Given the description of an element on the screen output the (x, y) to click on. 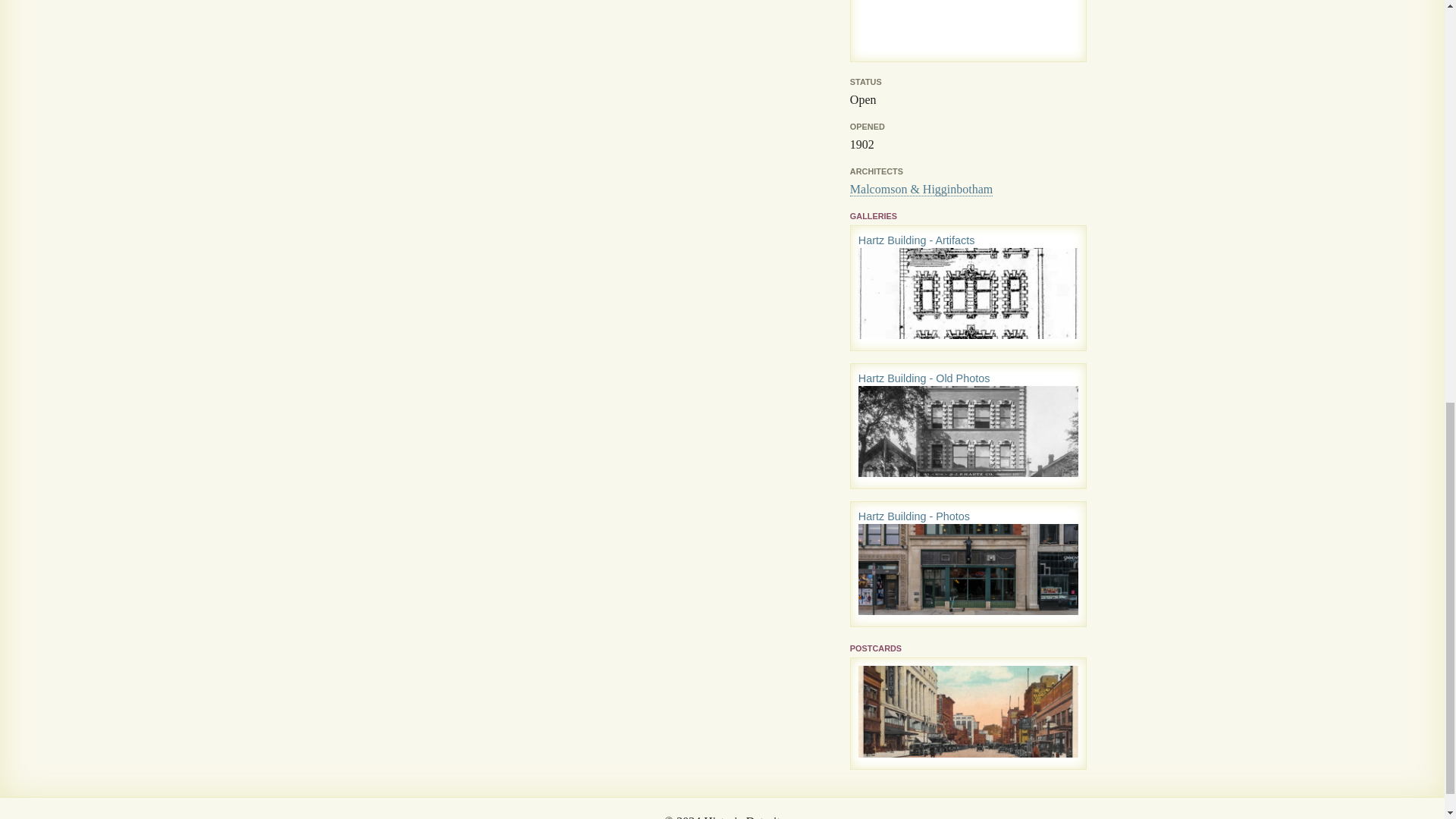
Hartz Building - Photos (914, 516)
Hartz Building - Artifacts (917, 240)
Hartz Building - Old Photos (924, 378)
